Given the description of an element on the screen output the (x, y) to click on. 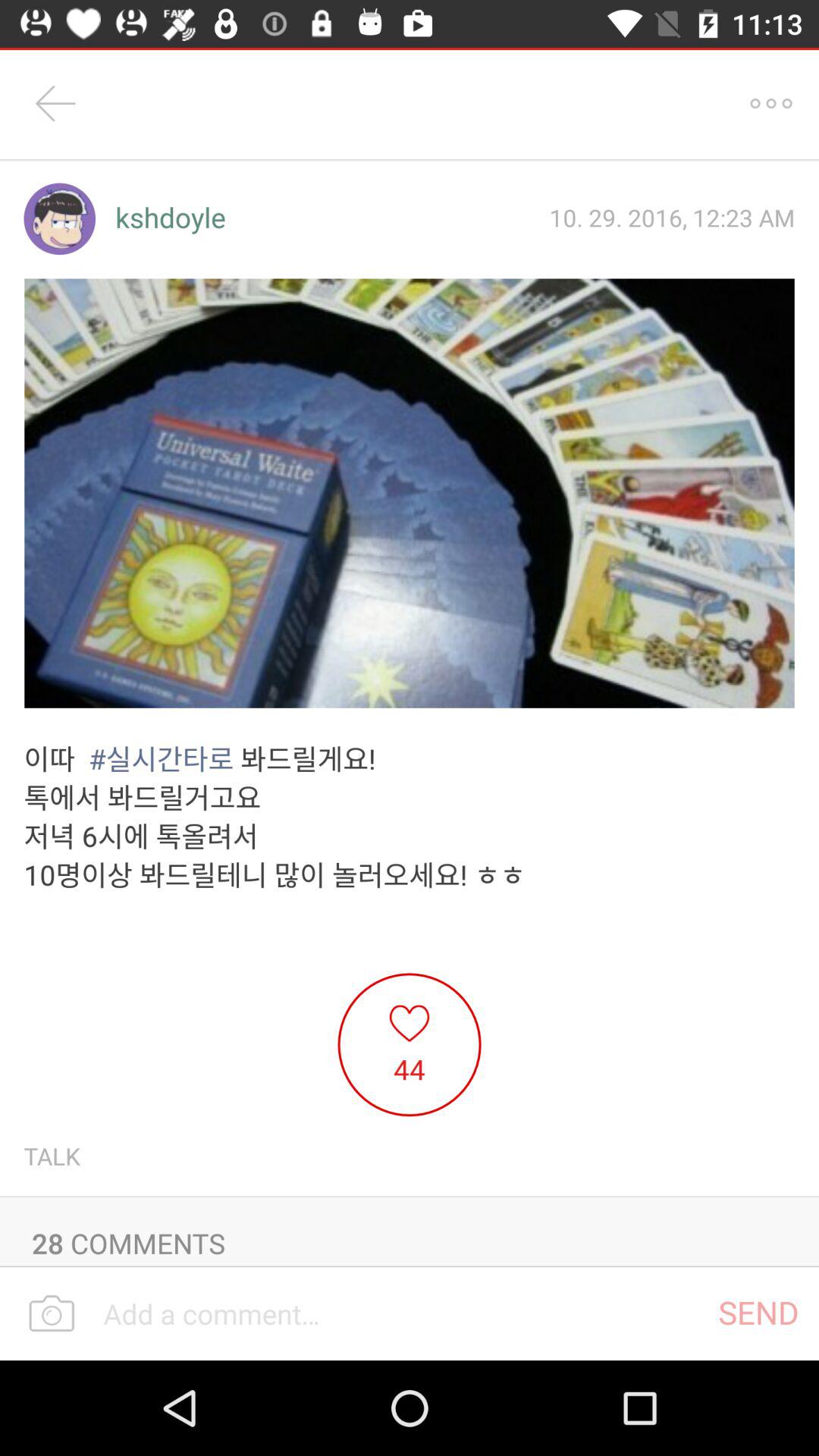
click to camera option (51, 1314)
